Given the description of an element on the screen output the (x, y) to click on. 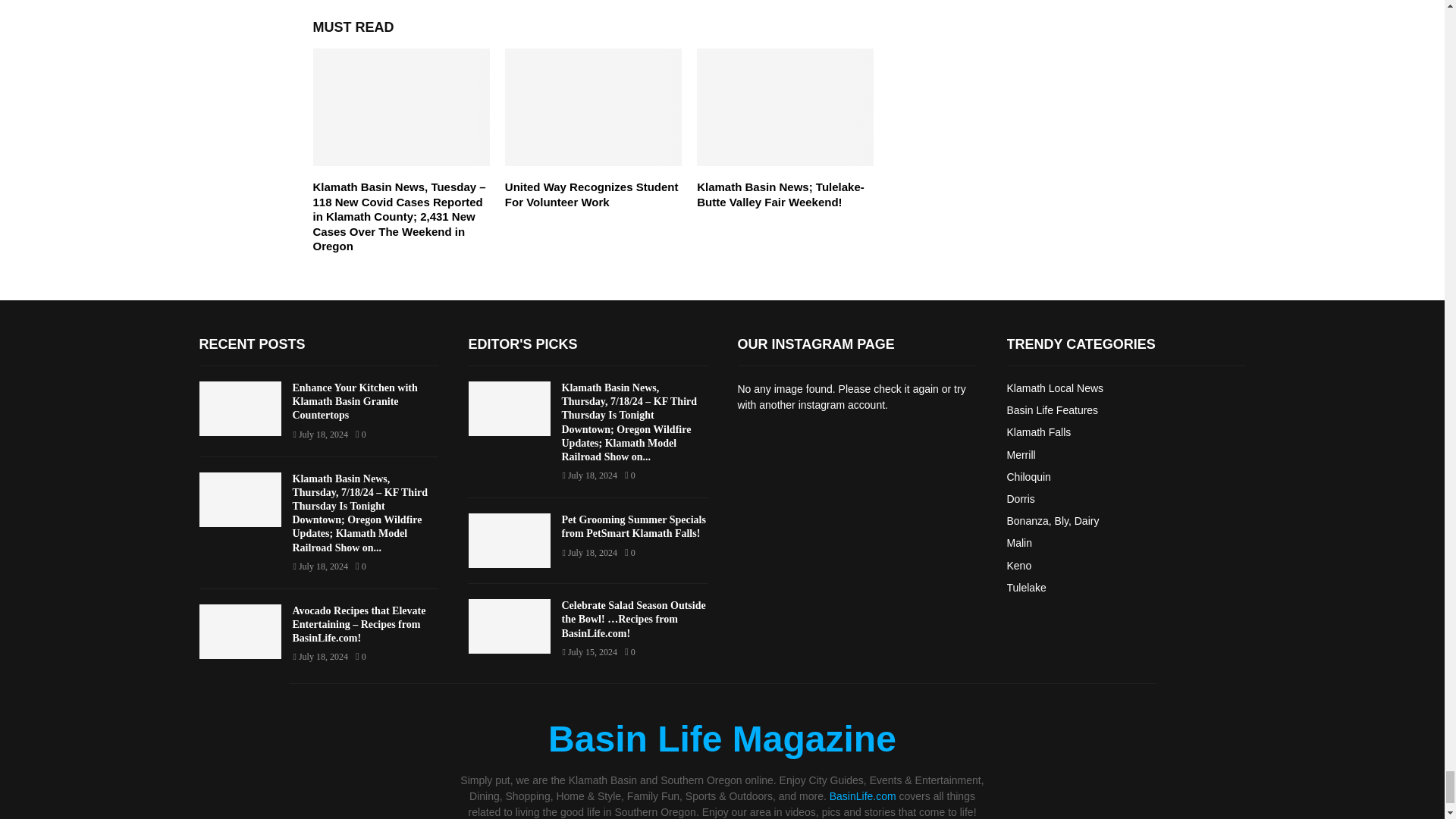
Enhance Your Kitchen with Klamath Basin Granite Countertops (239, 408)
